Given the description of an element on the screen output the (x, y) to click on. 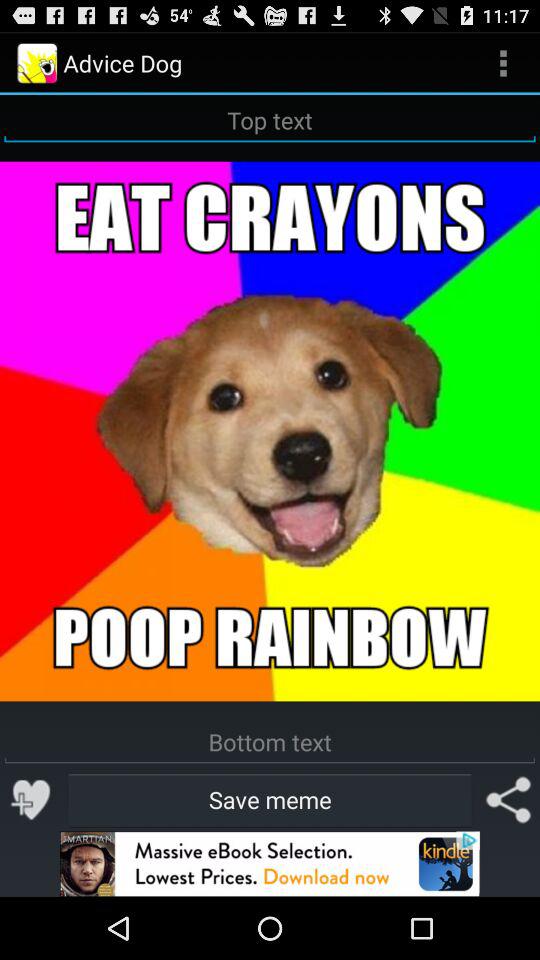
advertisement (270, 864)
